Given the description of an element on the screen output the (x, y) to click on. 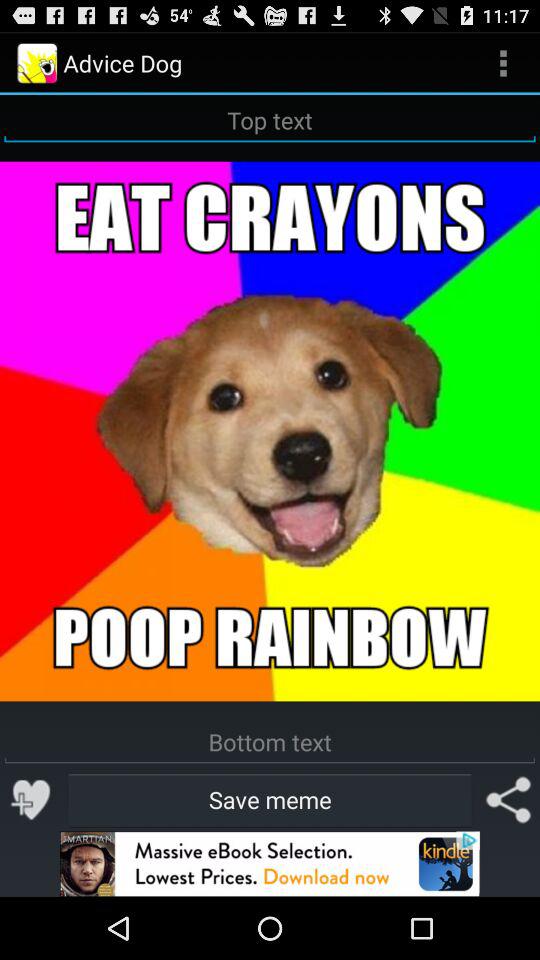
advertisement (270, 864)
